Given the description of an element on the screen output the (x, y) to click on. 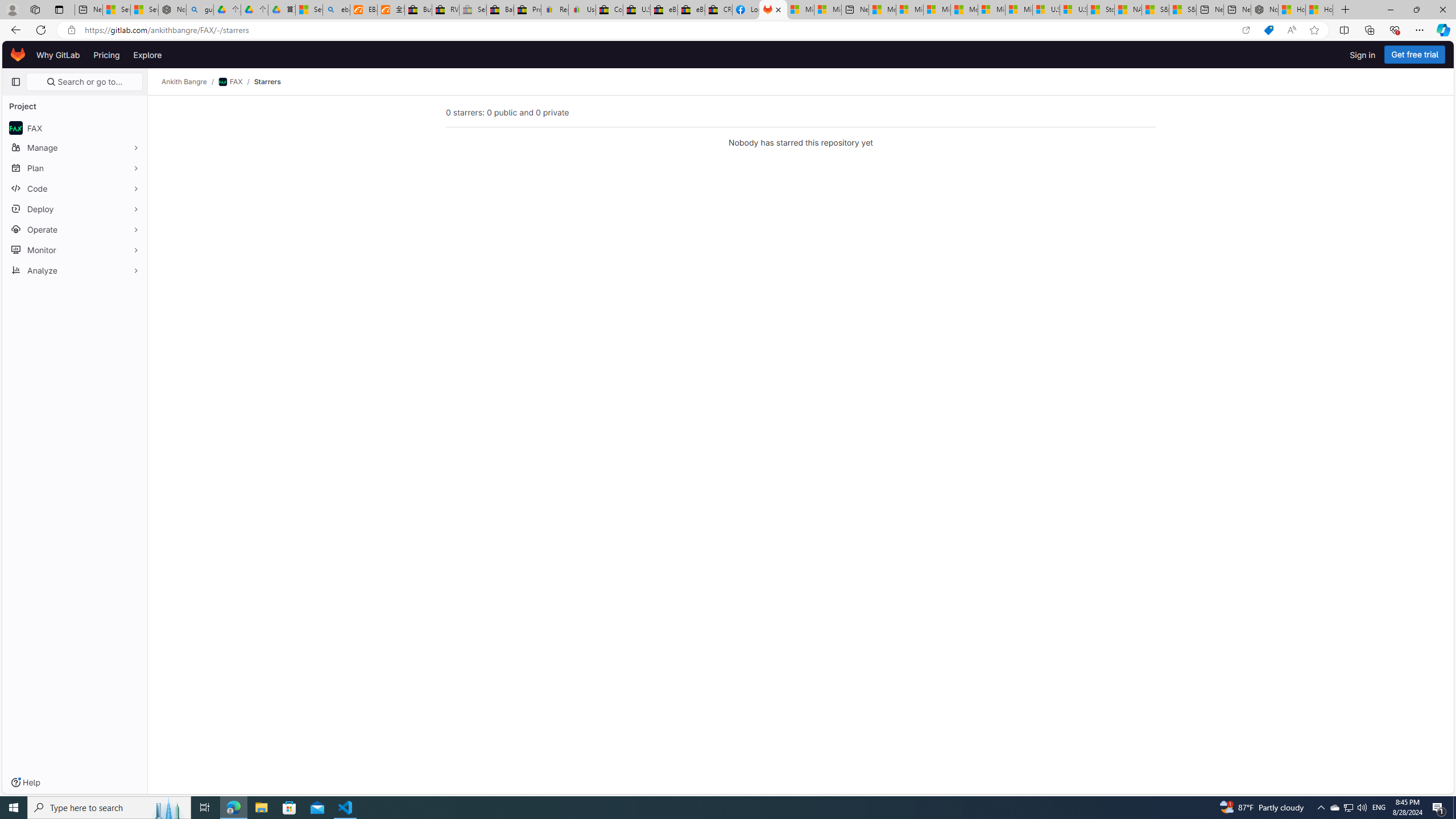
Close tab (778, 9)
Back (13, 29)
Starrers (267, 81)
Why GitLab (58, 54)
Explore (146, 54)
guge yunpan - Search (200, 9)
Deploy (74, 208)
Consumer Health Data Privacy Policy - eBay Inc. (609, 9)
Primary navigation sidebar (15, 81)
RV, Trailer & Camper Steps & Ladders for sale | eBay (445, 9)
Manage (74, 147)
